Given the description of an element on the screen output the (x, y) to click on. 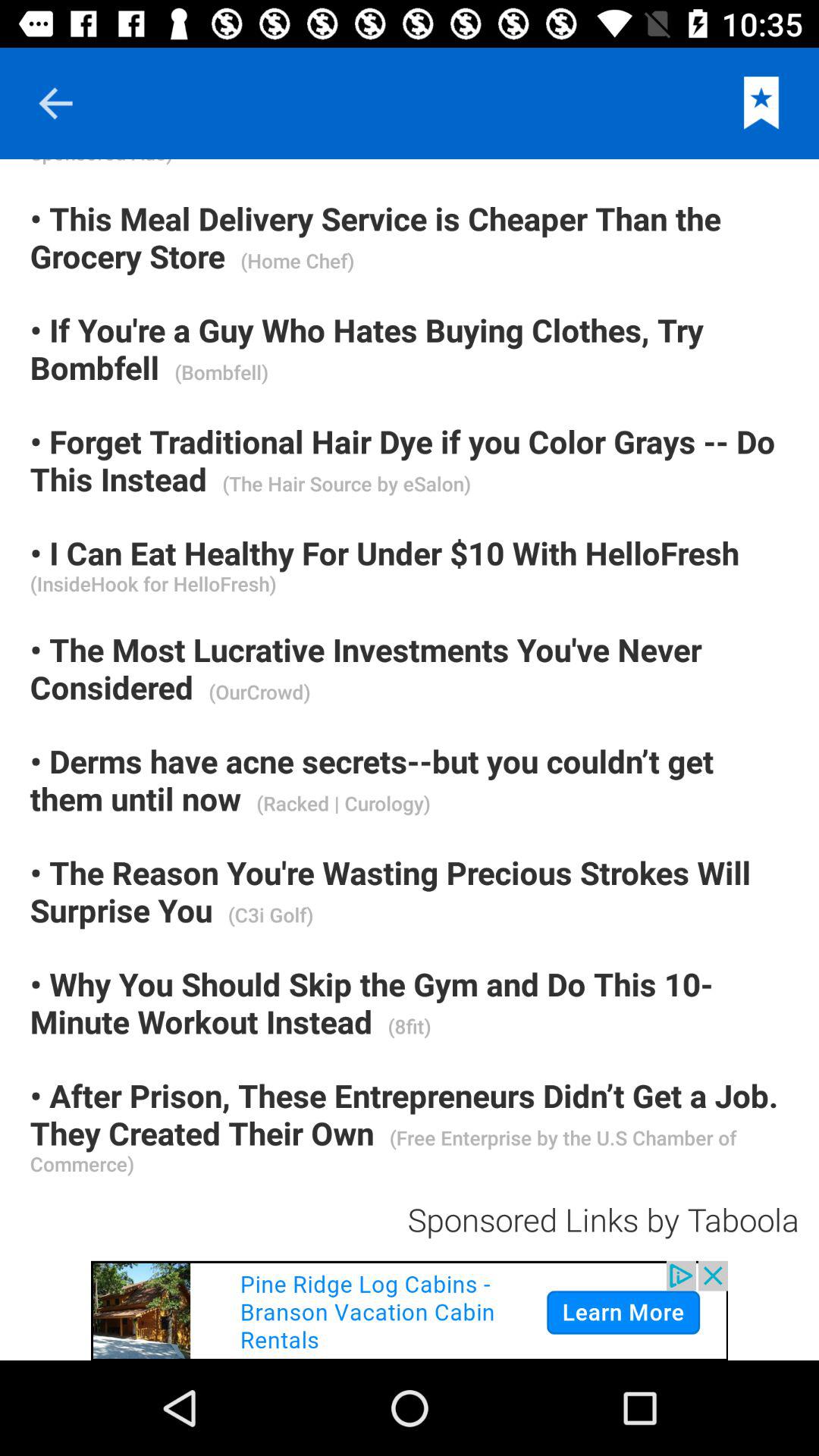
bookmark this page (761, 102)
